Given the description of an element on the screen output the (x, y) to click on. 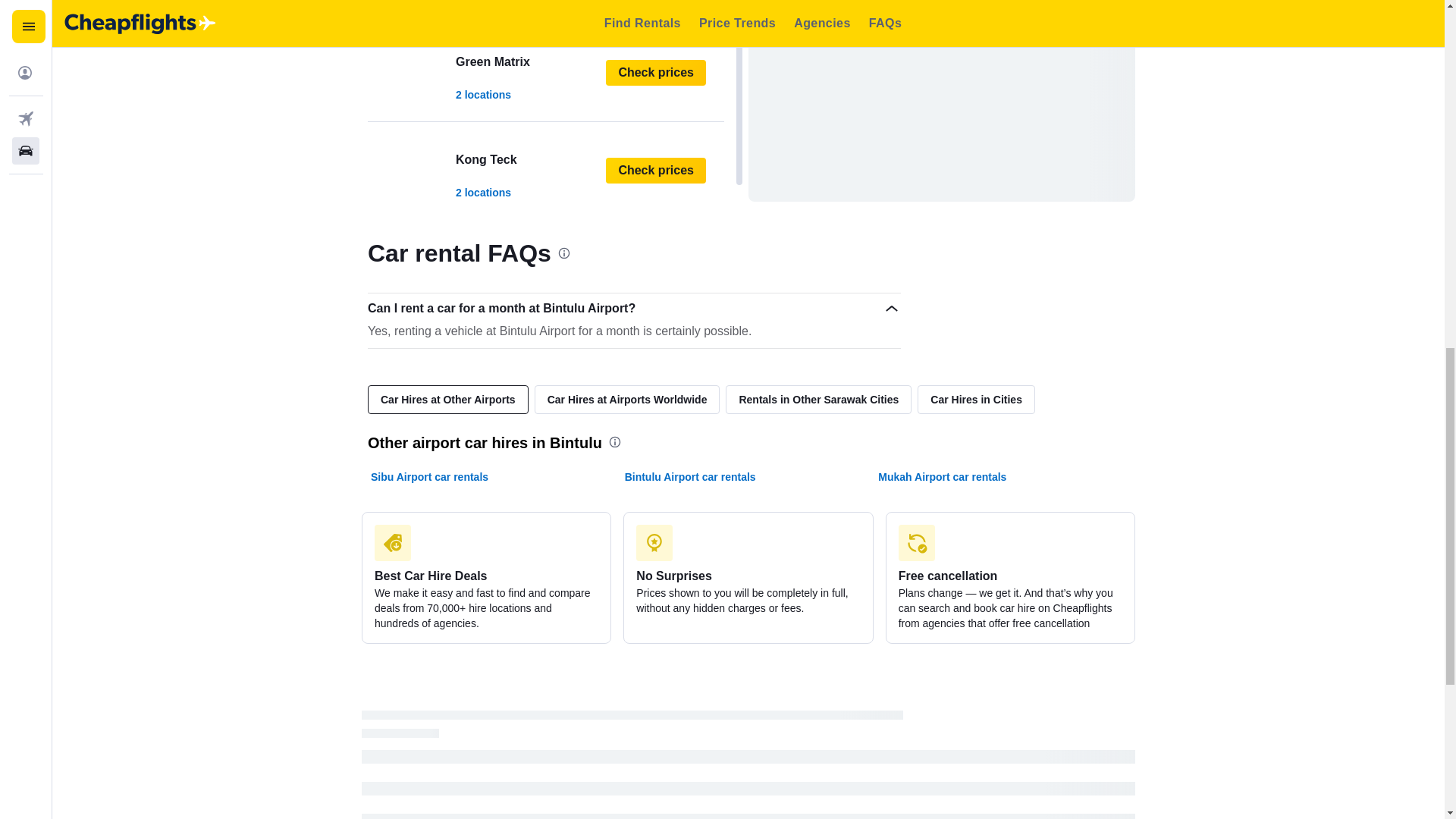
Check prices (545, 170)
Check prices (655, 170)
